Given the description of an element on the screen output the (x, y) to click on. 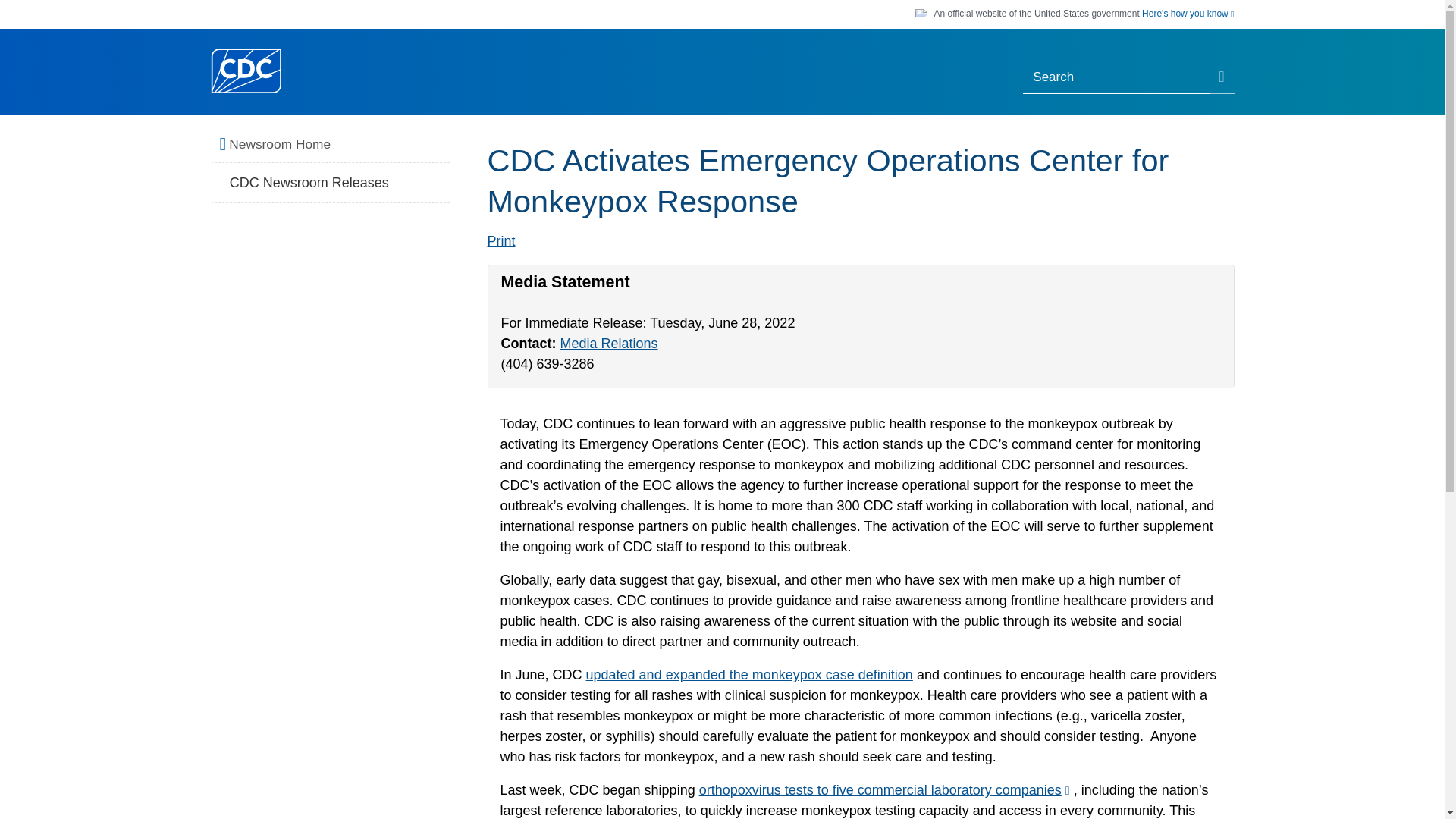
Submit (1221, 78)
updated and expanded the monkeypox case definition (749, 674)
Print (500, 240)
CDC Newsroom Releases (330, 182)
Here's how you know (1187, 14)
orthopoxvirus tests to five commercial laboratory companies (886, 789)
Newsroom Home (335, 144)
Media Relations (609, 343)
